Given the description of an element on the screen output the (x, y) to click on. 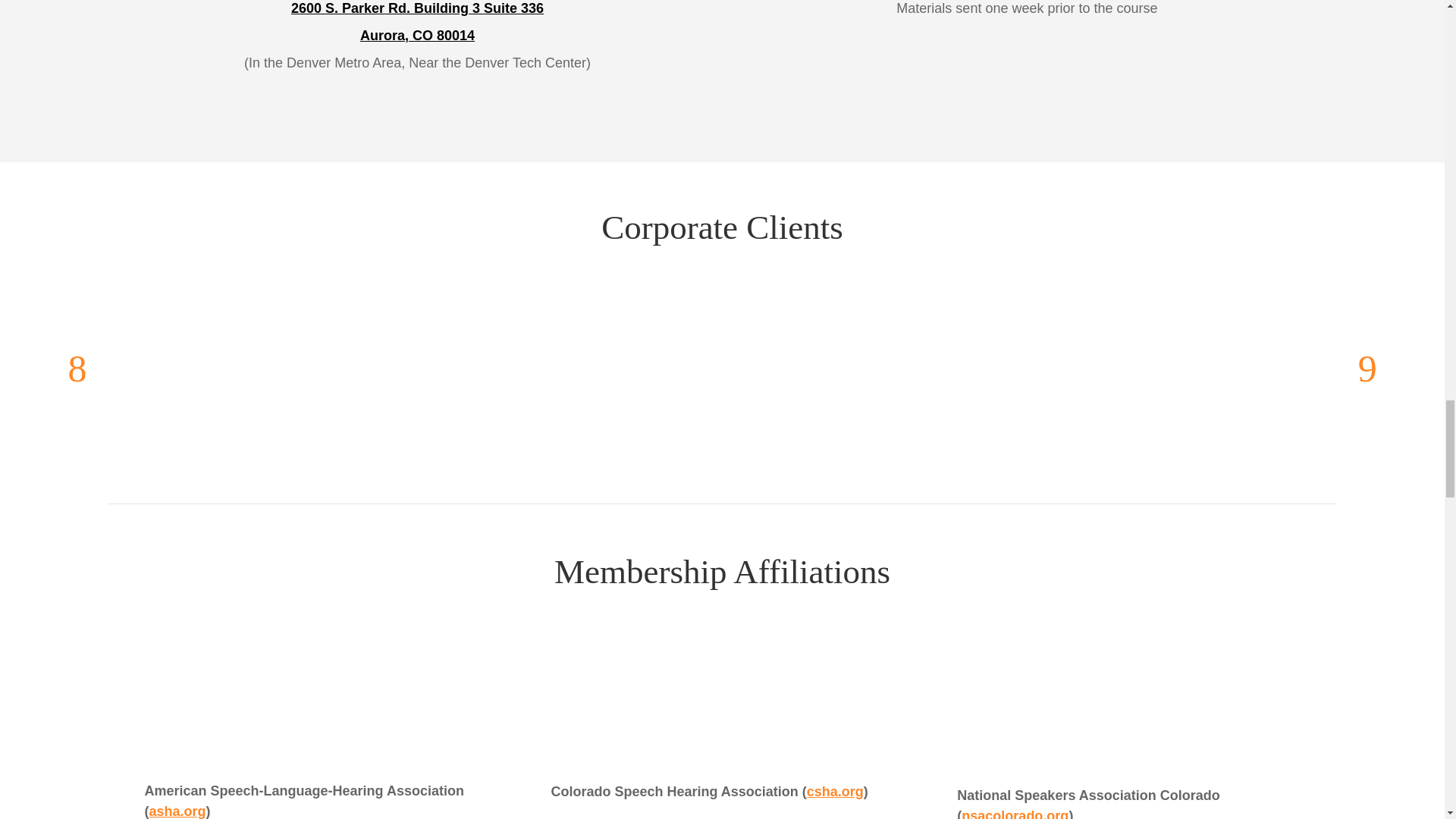
nsacolorado.org (1014, 813)
CSHA-logo-457x128-1 (721, 702)
csha.org (834, 791)
Aurora, CO 80014 (416, 35)
2600 S. Parker Rd. Building 3 Suite 336 (417, 7)
download (1128, 704)
asha.org (176, 811)
asha-logo (295, 701)
